Given the description of an element on the screen output the (x, y) to click on. 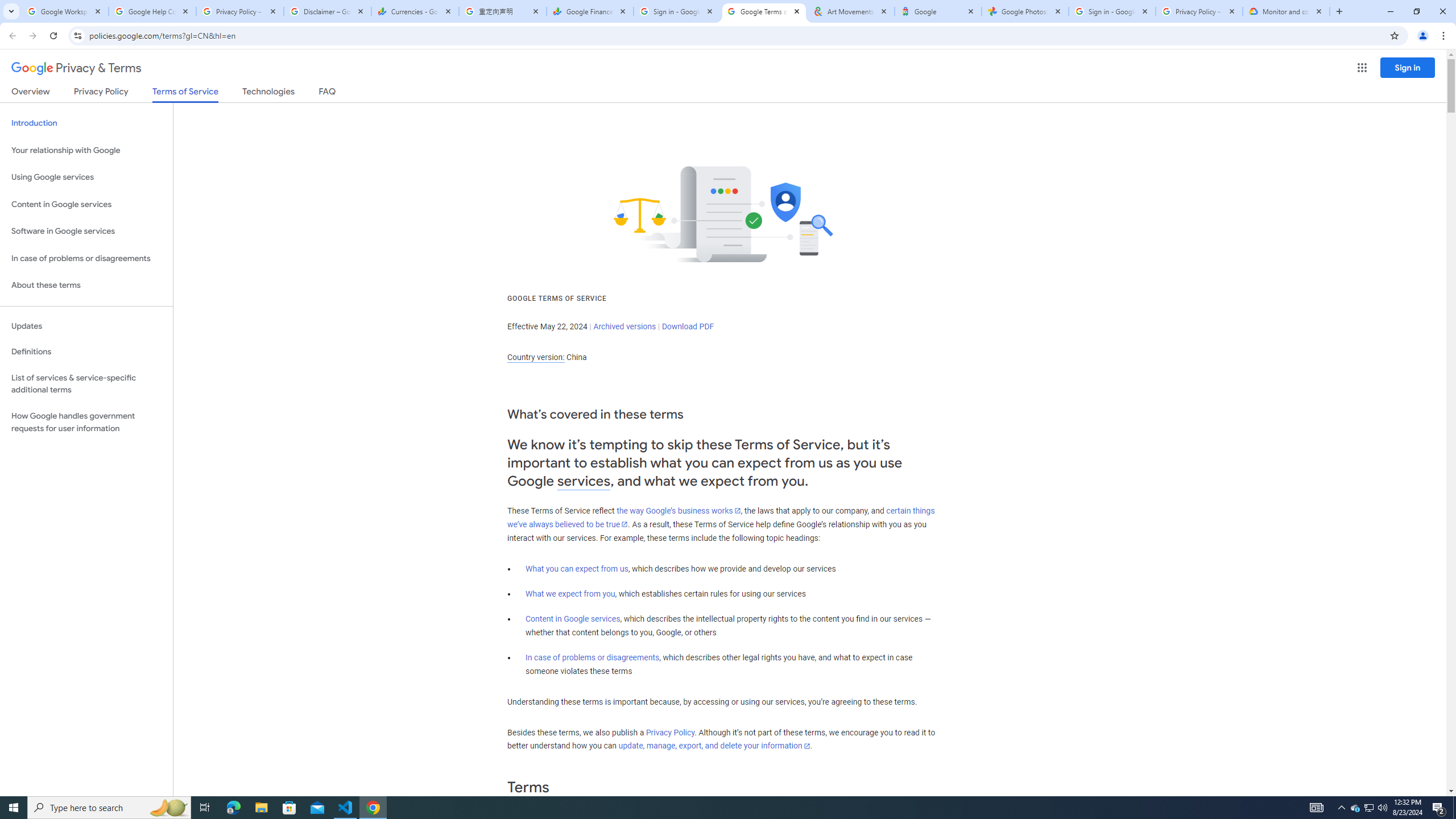
Introduction (86, 122)
Terms of Service (184, 94)
Archived versions (624, 326)
Privacy Policy (669, 732)
Technologies (268, 93)
Content in Google services (572, 618)
